Given the description of an element on the screen output the (x, y) to click on. 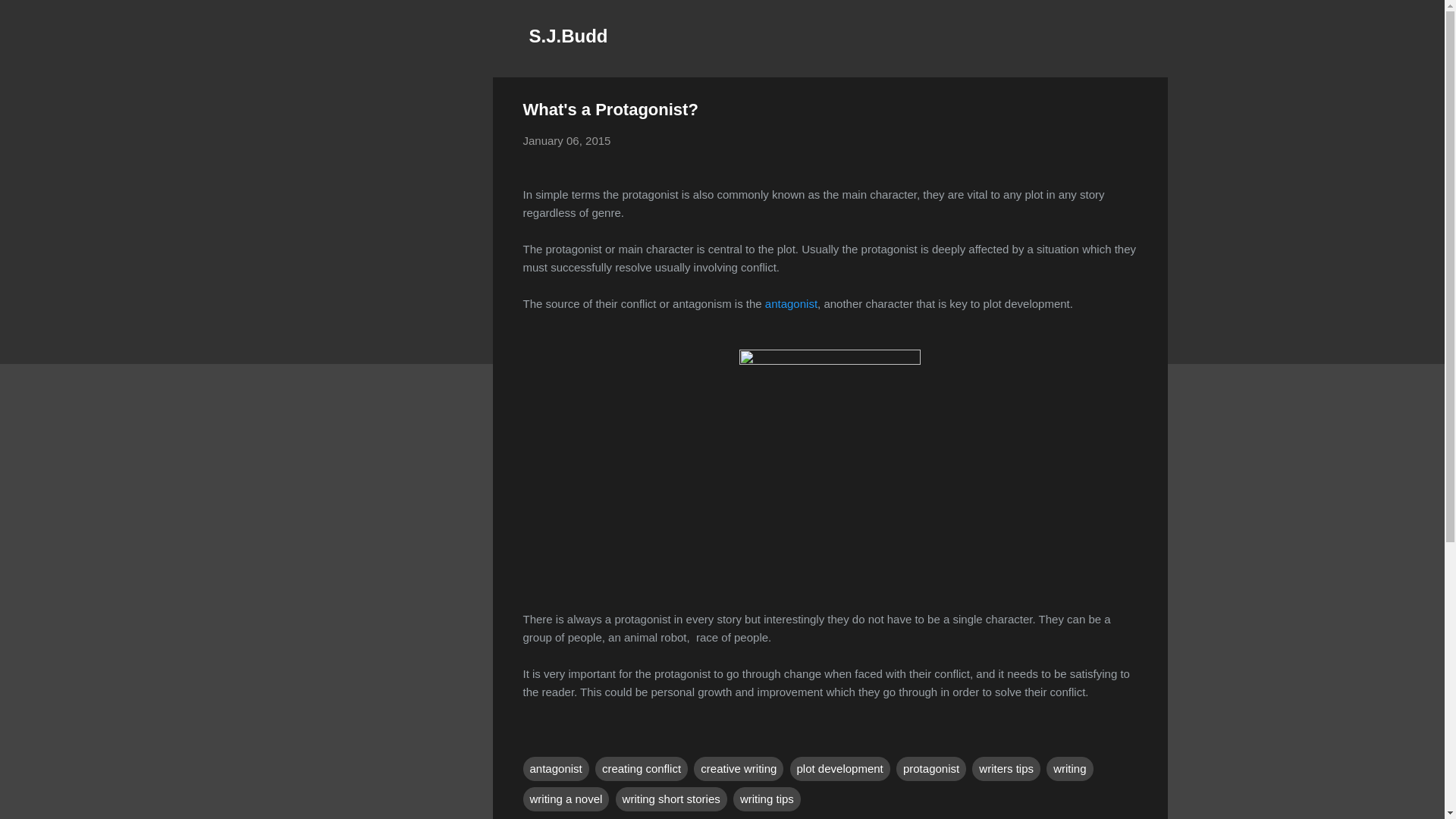
writing (1069, 768)
writing a novel (566, 799)
protagonist (931, 768)
antagonist (790, 303)
plot development (839, 768)
creative writing (738, 768)
writing short stories (670, 799)
Search (29, 18)
writing tips (766, 799)
January 06, 2015 (566, 140)
antagonist (555, 768)
creating conflict (641, 768)
writers tips (1006, 768)
S.J.Budd (568, 35)
permanent link (566, 140)
